Given the description of an element on the screen output the (x, y) to click on. 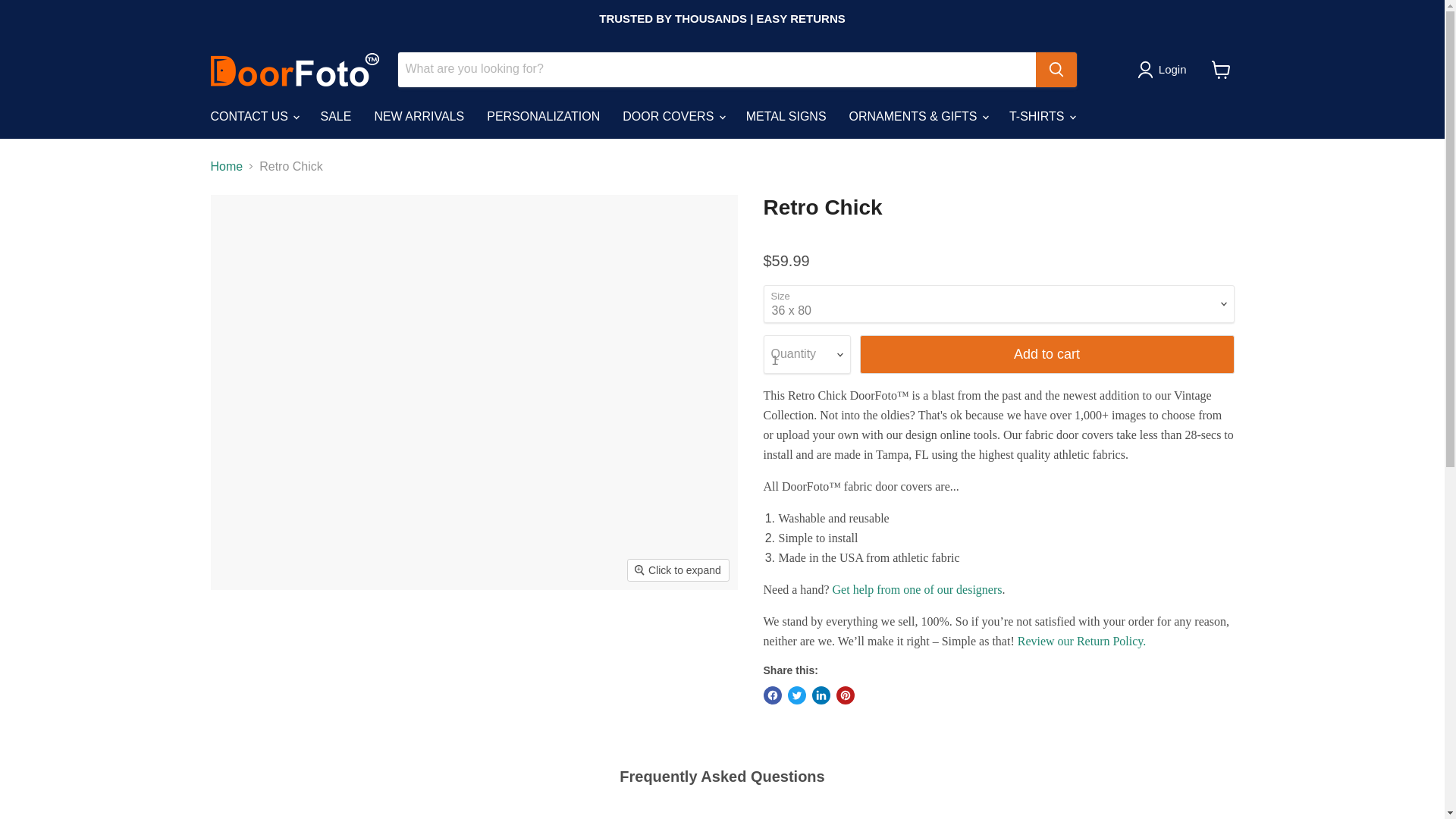
SALE (335, 115)
View cart (1221, 69)
PERSONALIZATION (543, 115)
NEW ARRIVALS (419, 115)
Login (1172, 69)
